Given the description of an element on the screen output the (x, y) to click on. 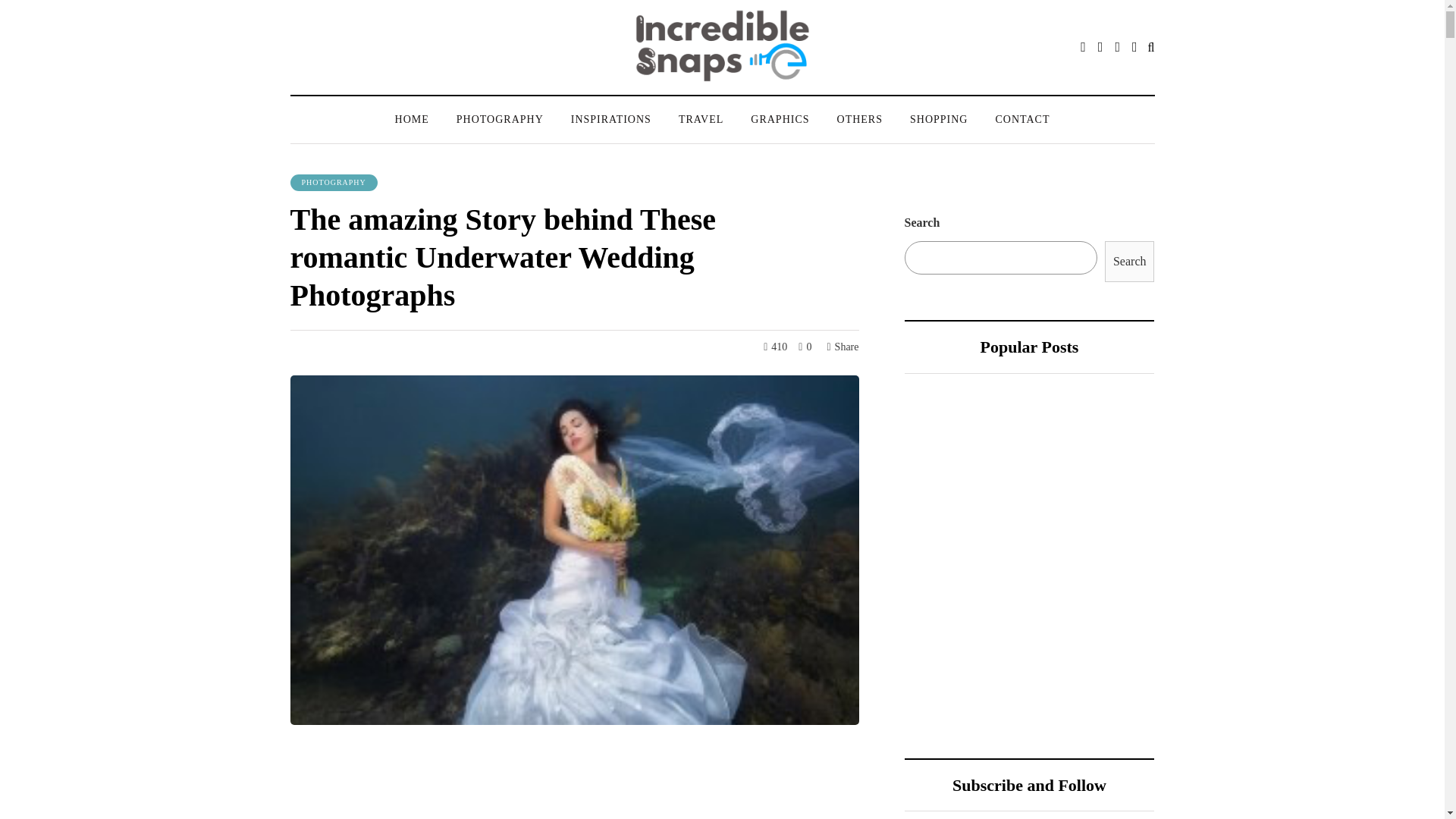
CONTACT (1021, 119)
PHOTOGRAPHY (499, 119)
HOME (411, 119)
INSPIRATIONS (611, 119)
GRAPHICS (779, 119)
PHOTOGRAPHY (333, 182)
SHOPPING (938, 119)
TRAVEL (700, 119)
OTHERS (860, 119)
